Given the description of an element on the screen output the (x, y) to click on. 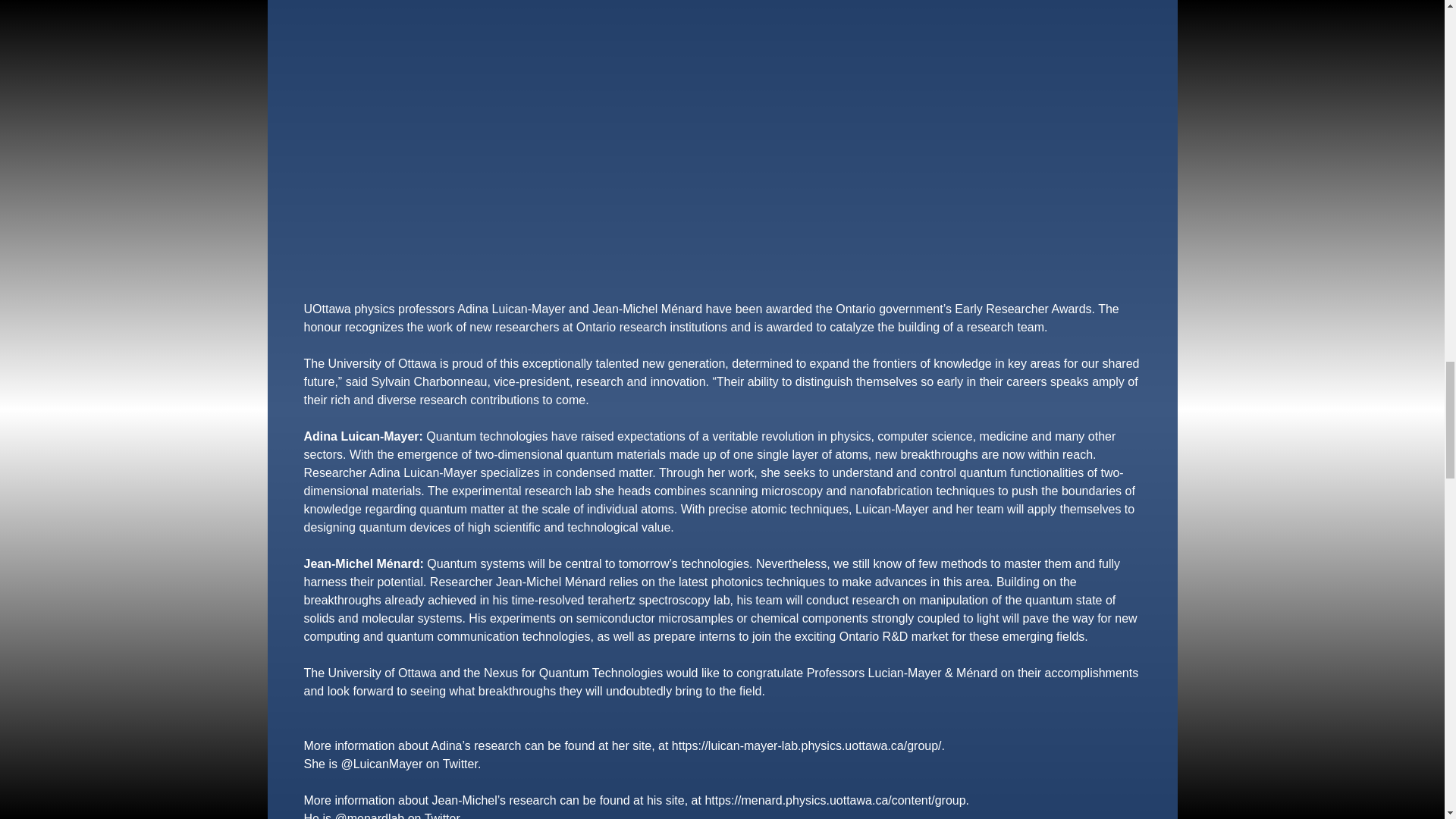
Adina Luican-Mayer (510, 308)
